Given the description of an element on the screen output the (x, y) to click on. 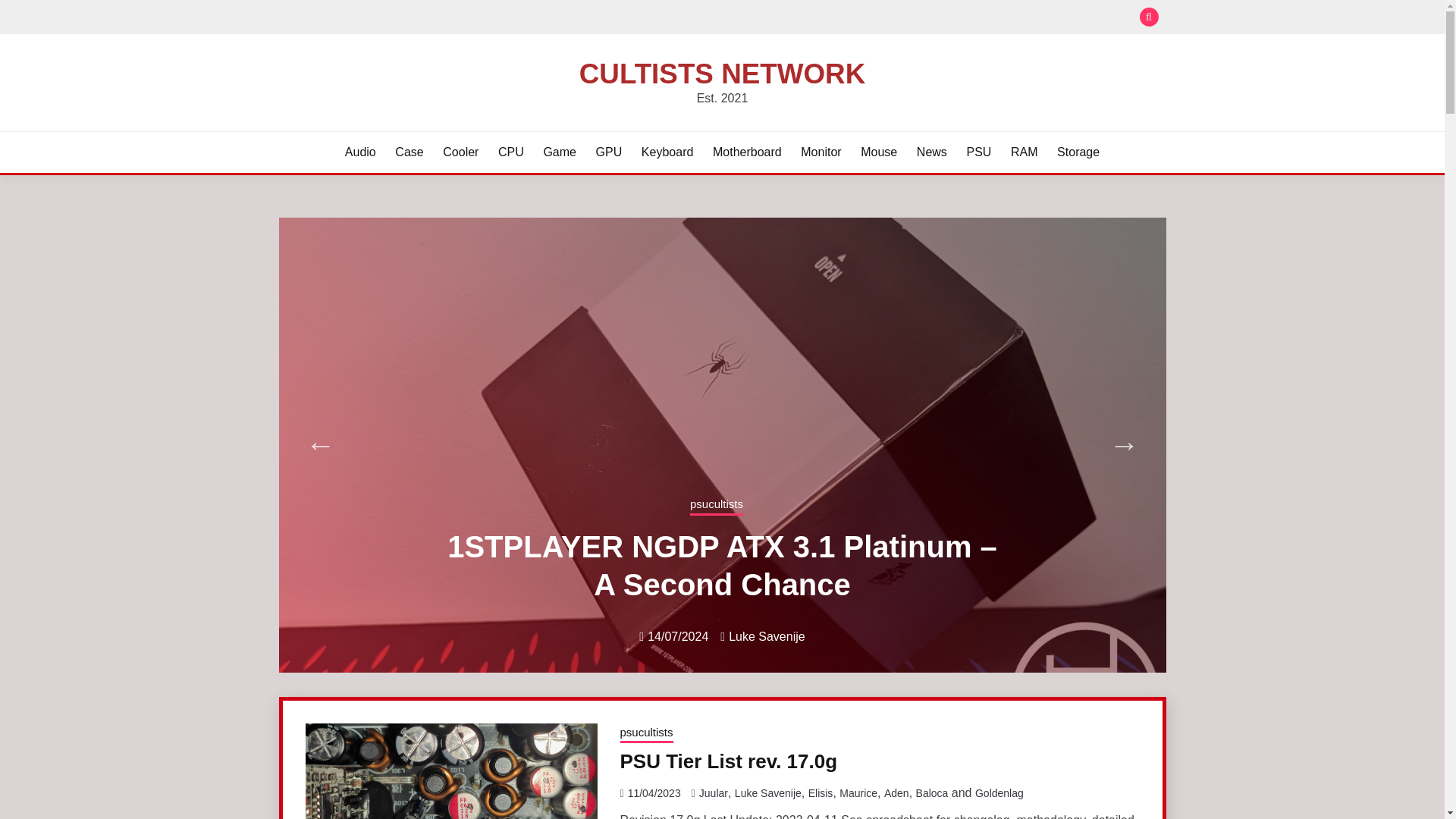
Posts by Luke Savenije (768, 793)
PSU (978, 152)
Cooler (460, 152)
GPU (609, 152)
RAM (1024, 152)
Posts by Aden (895, 793)
Case (408, 152)
Search (832, 18)
Posts by Luke Savenije (767, 637)
CULTISTS NETWORK (721, 73)
Mouse (878, 152)
Posts by Maurice (858, 793)
Game (559, 152)
Luke Savenije (767, 637)
CPU (510, 152)
